Given the description of an element on the screen output the (x, y) to click on. 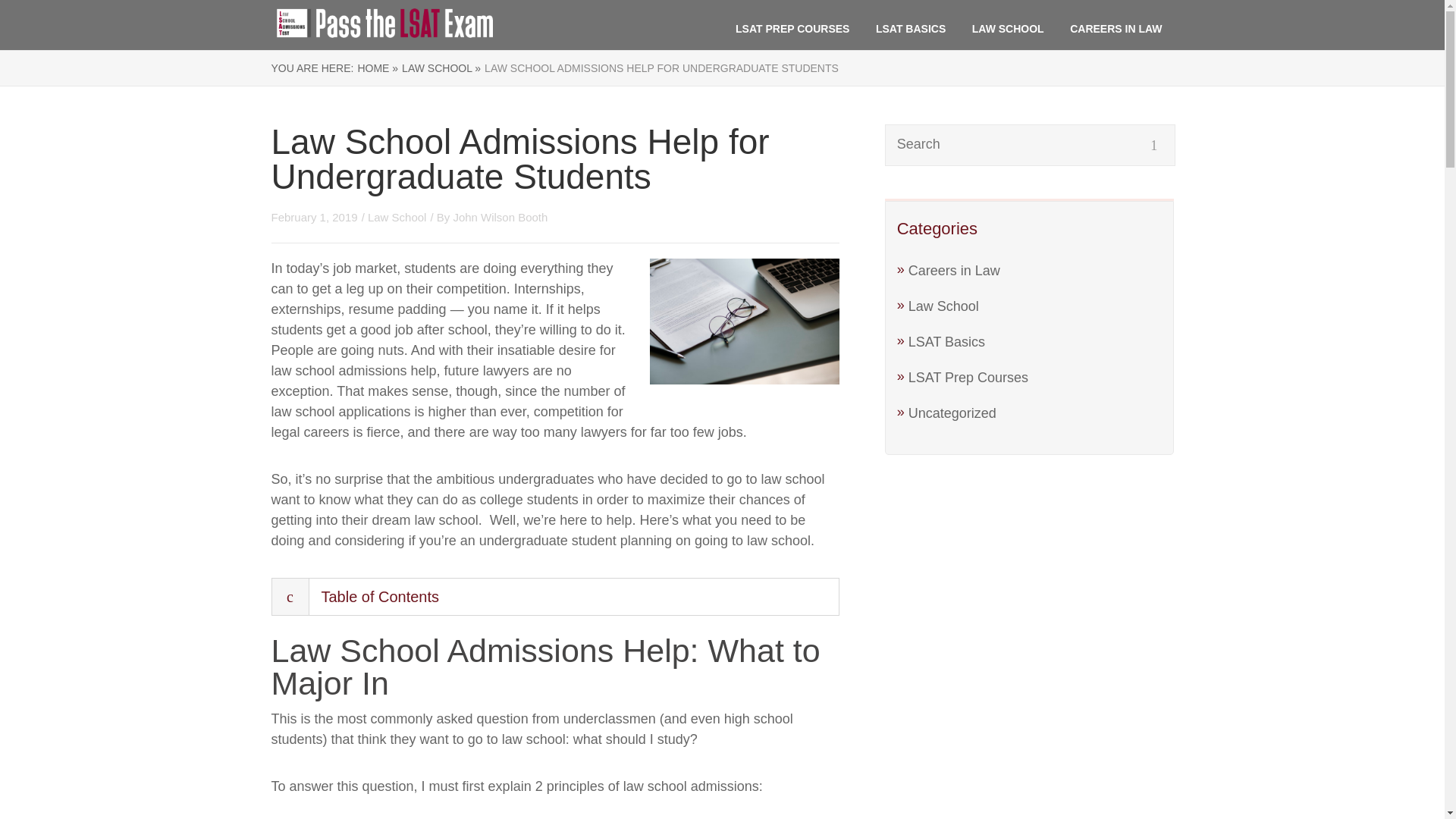
CAREERS IN LAW (1115, 28)
LSAT PREP COURSES (791, 28)
LSAT Basics (946, 341)
Law School (397, 216)
LSAT Prep Courses (967, 377)
LAW SCHOOL (1007, 28)
Uncategorized (951, 412)
LSAT BASICS (910, 28)
Law School (943, 305)
Careers in Law (954, 270)
